Given the description of an element on the screen output the (x, y) to click on. 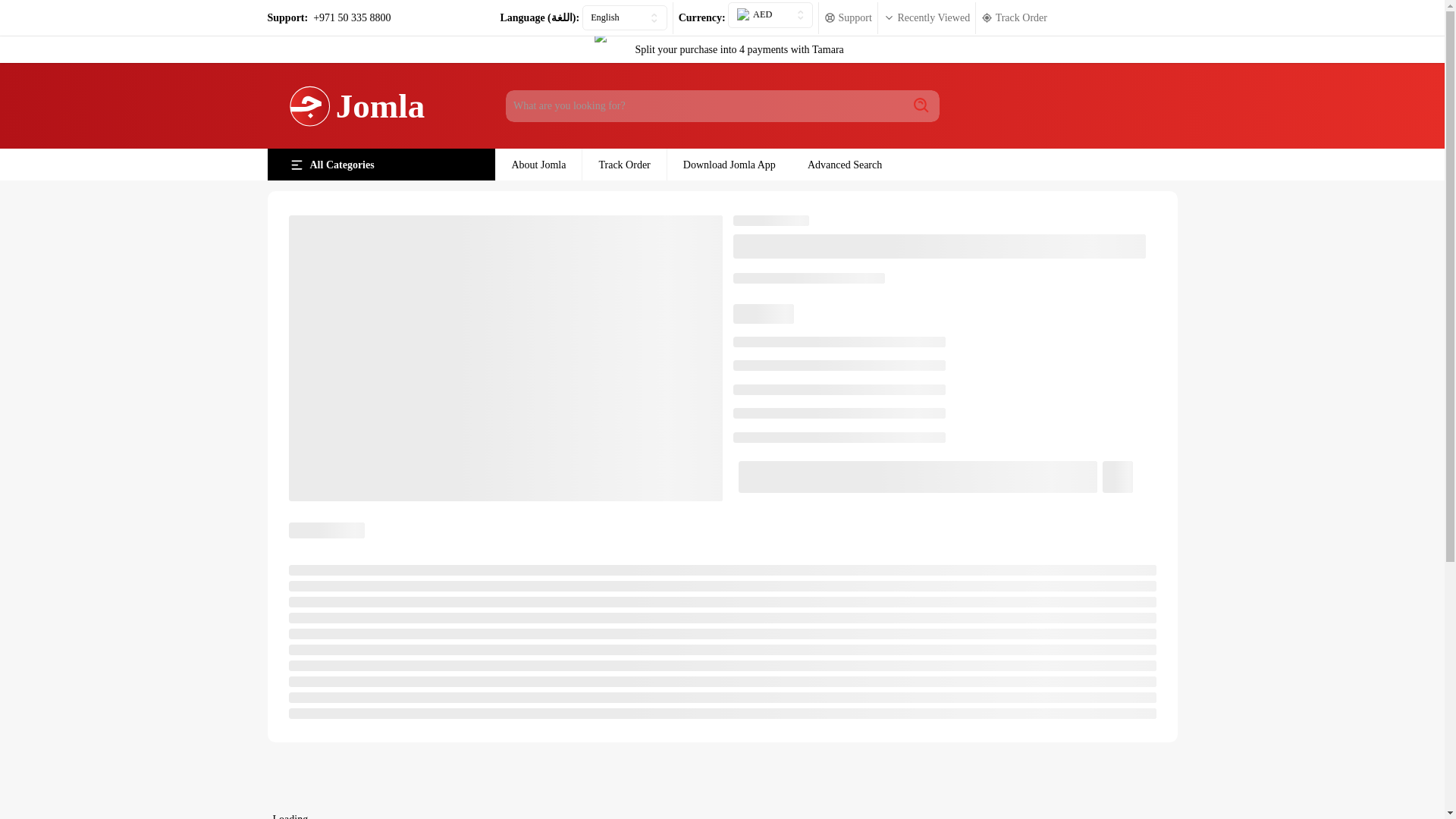
Support (847, 17)
Jomla (363, 105)
Advanced Search (845, 164)
Jomla (363, 106)
Track Order (1013, 17)
AED (770, 14)
Track Order (622, 164)
English (624, 17)
All Categories (380, 164)
About Jomla (537, 164)
